Given the description of an element on the screen output the (x, y) to click on. 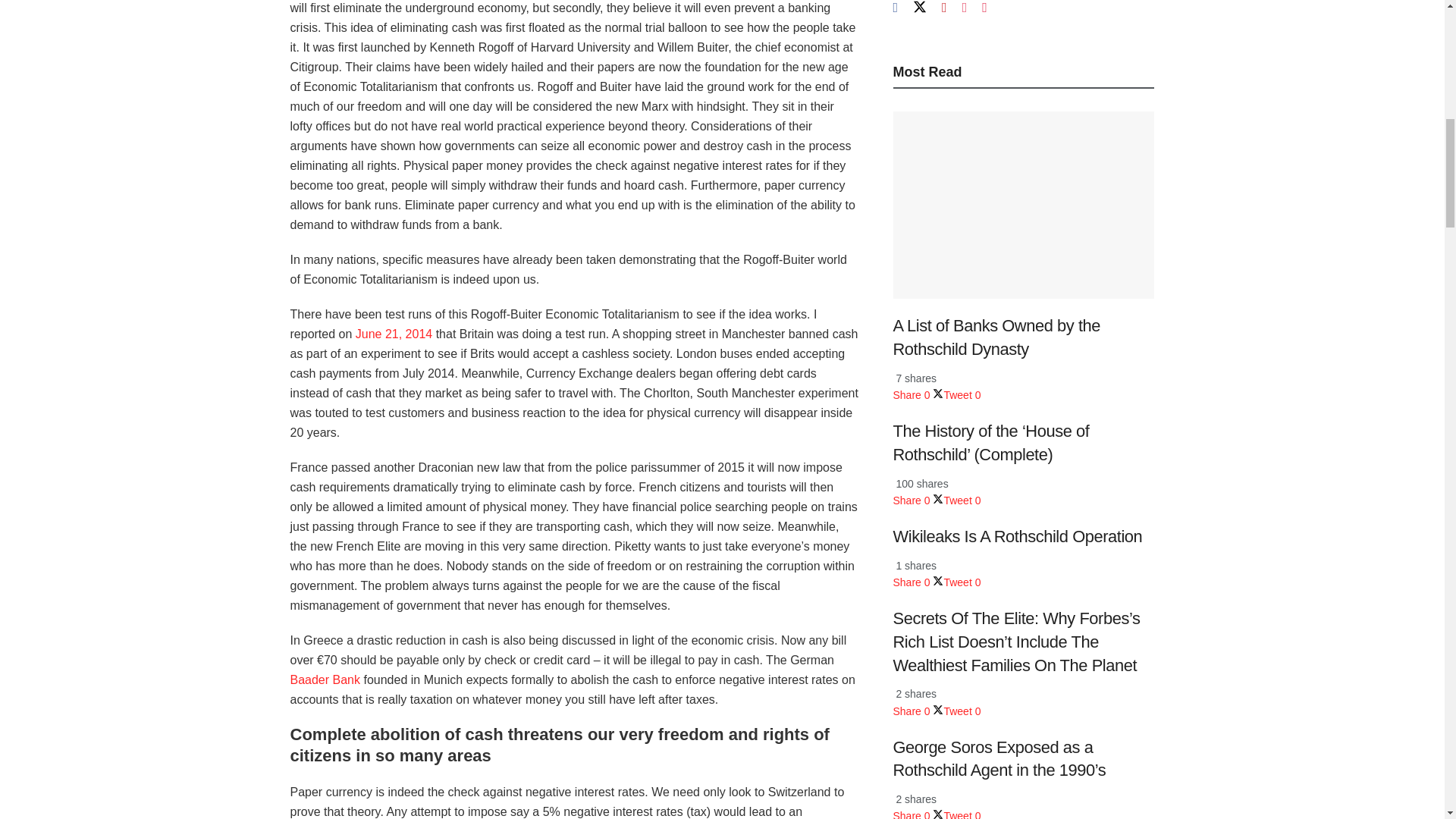
June 21, 2014 (393, 333)
Baader Bank (324, 679)
